Given the description of an element on the screen output the (x, y) to click on. 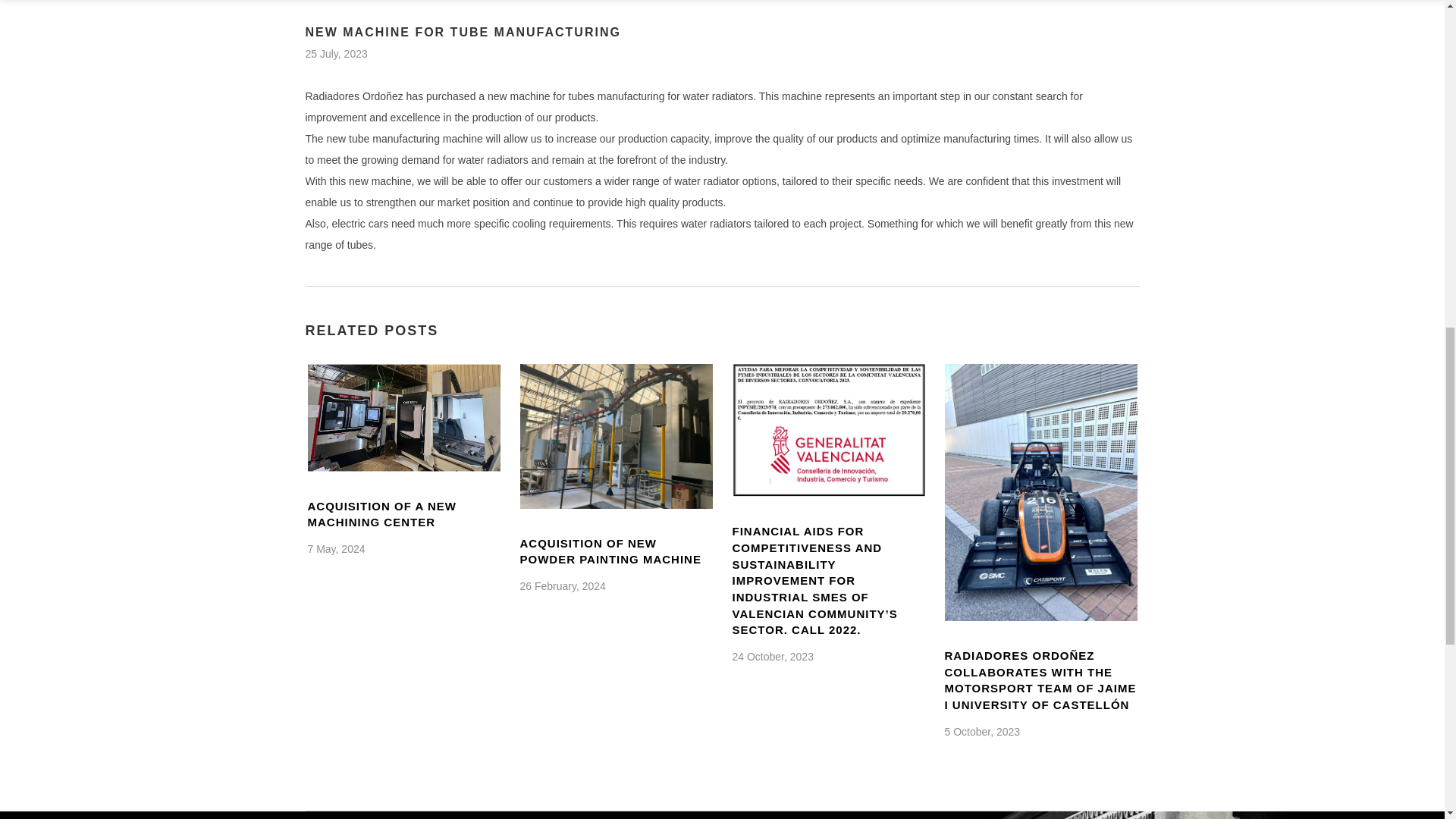
ACQUISITION OF A NEW MACHINING CENTER (382, 514)
ACQUISITION OF NEW POWDER PAINTING MACHINE (616, 435)
ACQUISITION OF A NEW MACHINING CENTER (403, 417)
ACQUISITION OF NEW POWDER PAINTING MACHINE (610, 551)
